Given the description of an element on the screen output the (x, y) to click on. 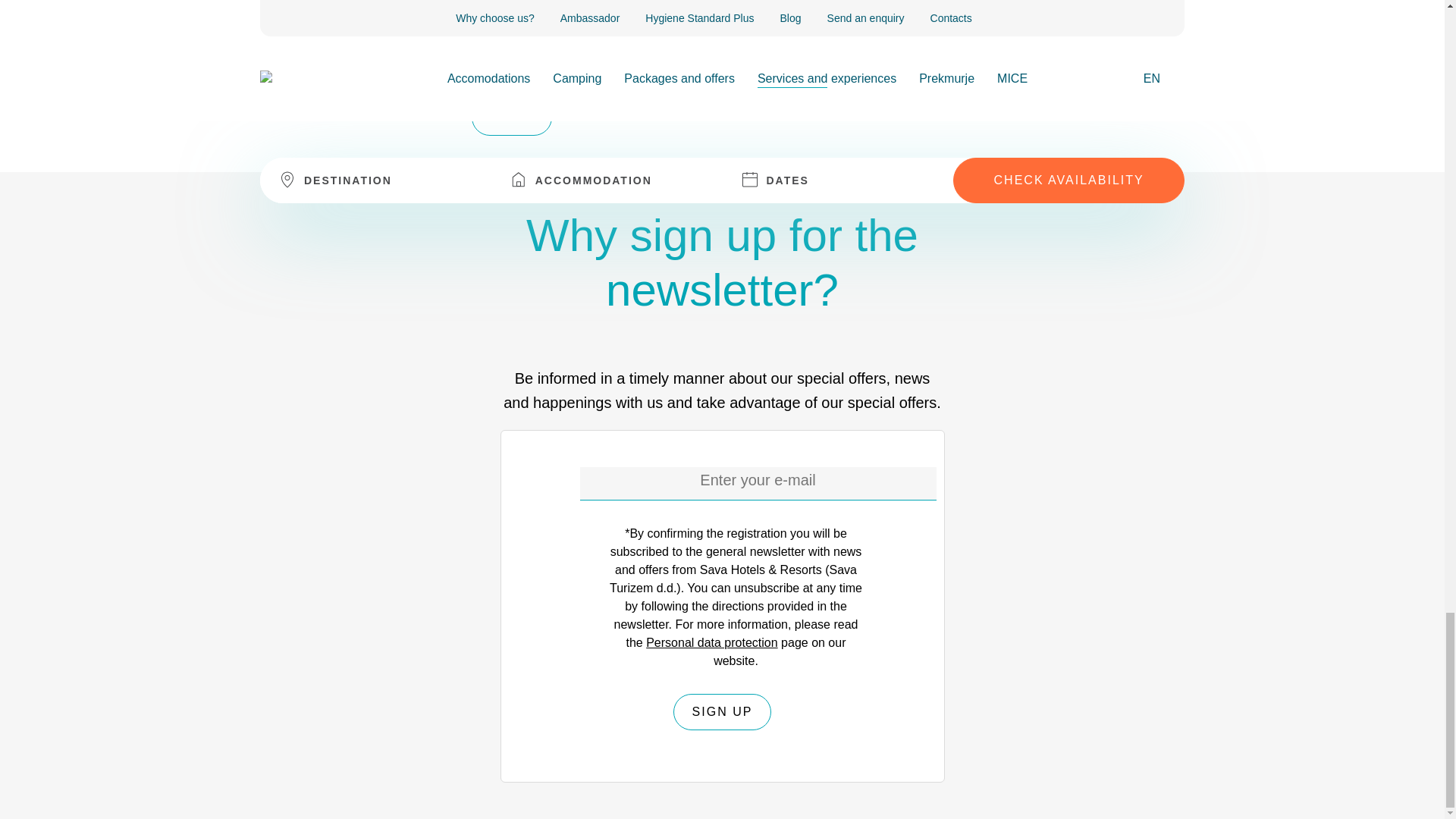
Varstvo osebnih podatkov (711, 642)
